Given the description of an element on the screen output the (x, y) to click on. 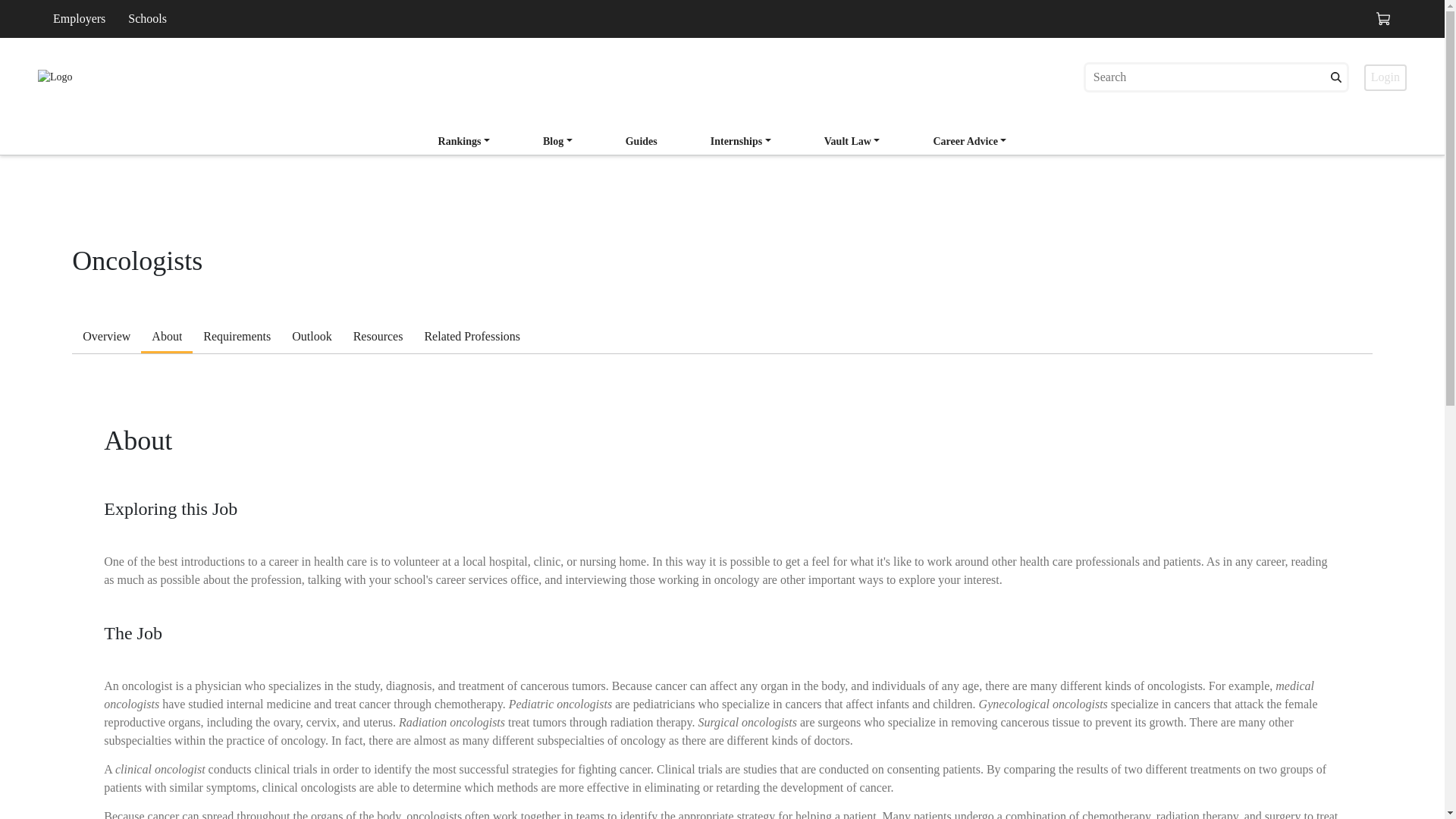
Requirements (236, 337)
About (166, 337)
Guides (641, 141)
Schools (147, 18)
Career Advice (968, 142)
Login (1385, 76)
Internships (740, 142)
Employers (722, 135)
Career Advice (78, 18)
Vault Law (968, 141)
Related Professions (852, 142)
Internships (472, 337)
Overview (740, 141)
Blog (106, 337)
